Given the description of an element on the screen output the (x, y) to click on. 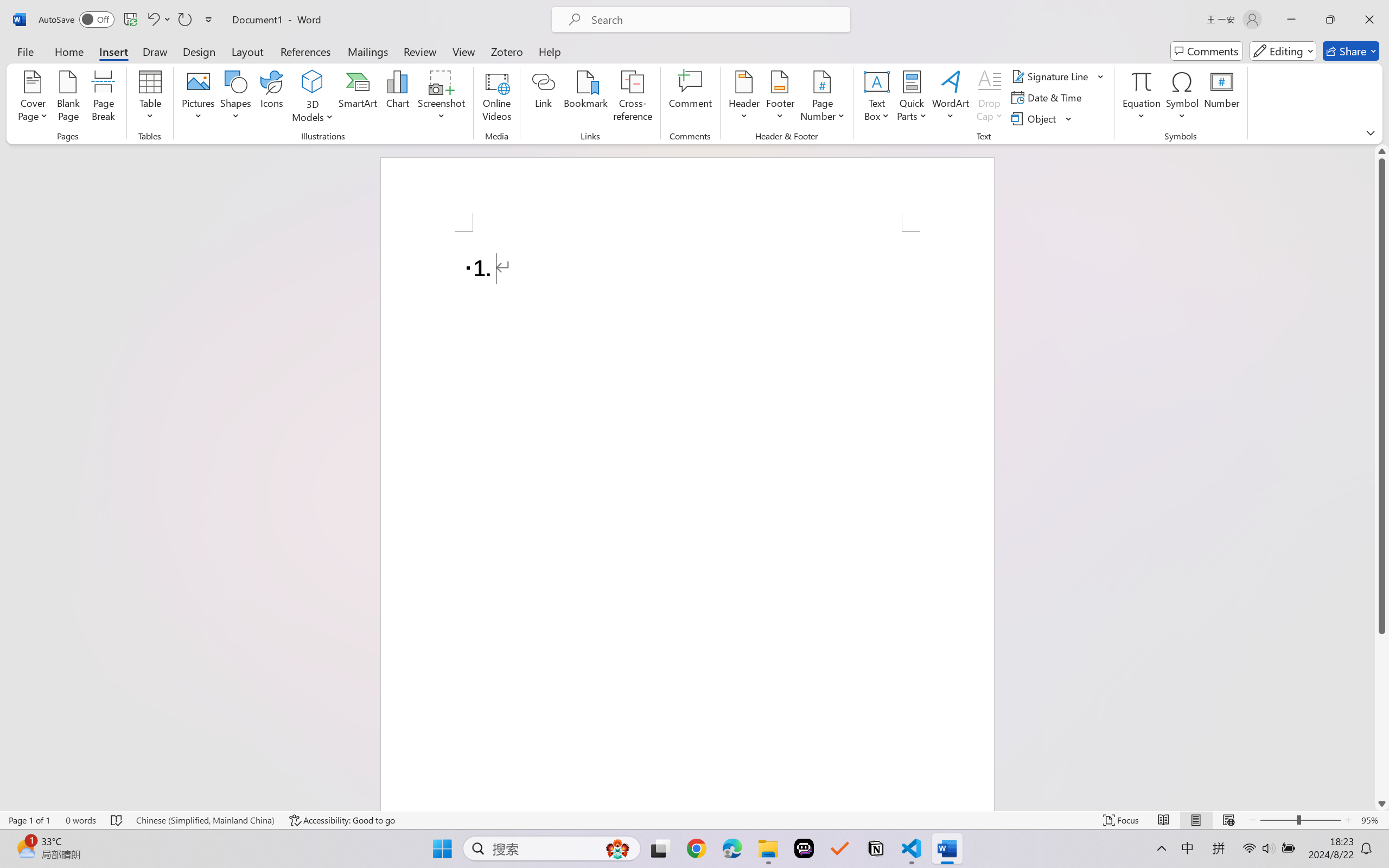
Equation (1141, 97)
Text Box (876, 97)
Zoom 95% (1372, 819)
Quick Parts (912, 97)
Repeat Doc Close (184, 19)
Language Chinese (Simplified, Mainland China) (205, 819)
